Given the description of an element on the screen output the (x, y) to click on. 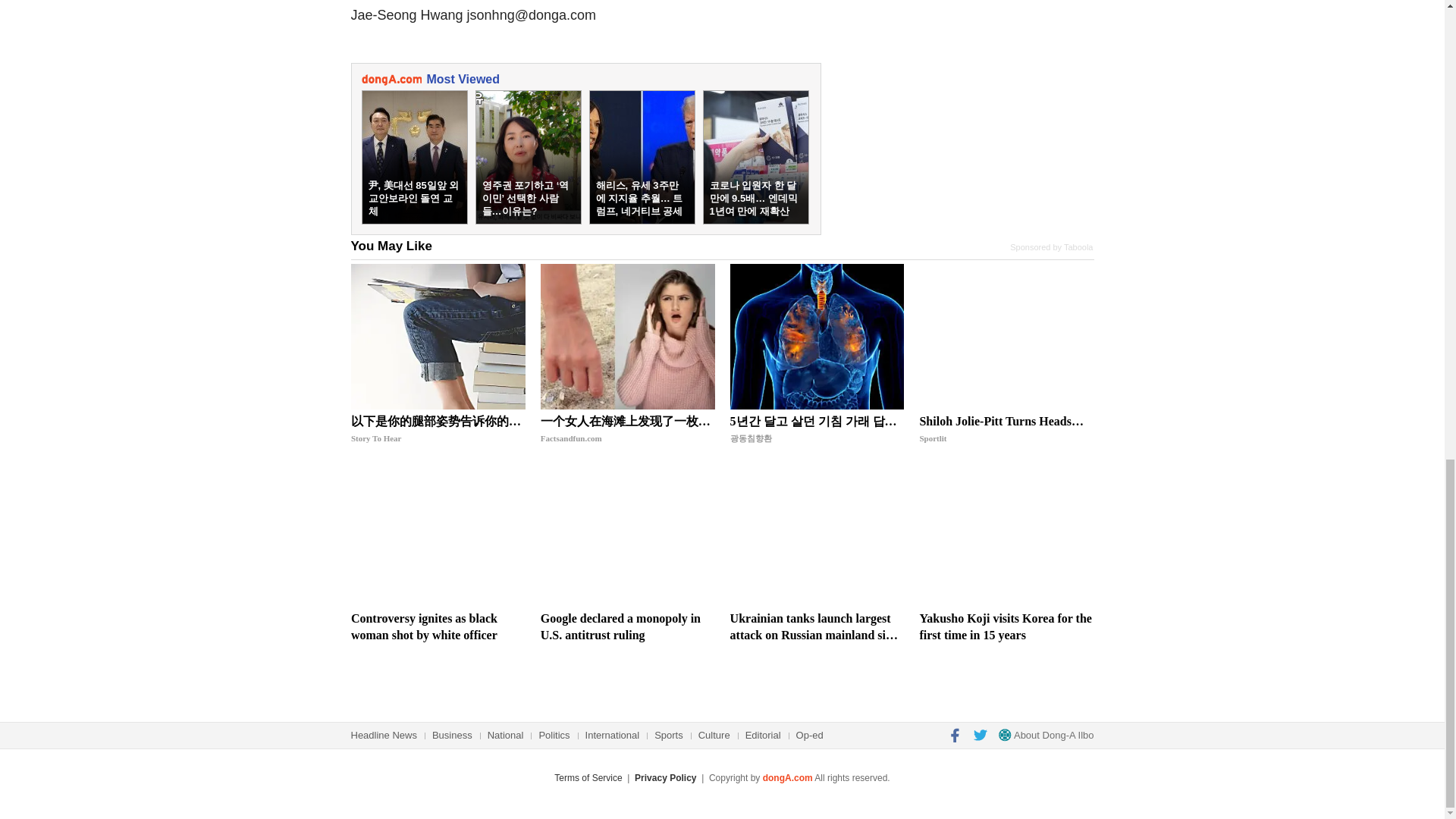
Google declared a monopoly in U.S. antitrust ruling (627, 626)
Google declared a monopoly in U.S. antitrust ruling (627, 534)
Controversy ignites as black woman shot by white officer (437, 534)
Controversy ignites as black woman shot by white officer (437, 626)
